Given the description of an element on the screen output the (x, y) to click on. 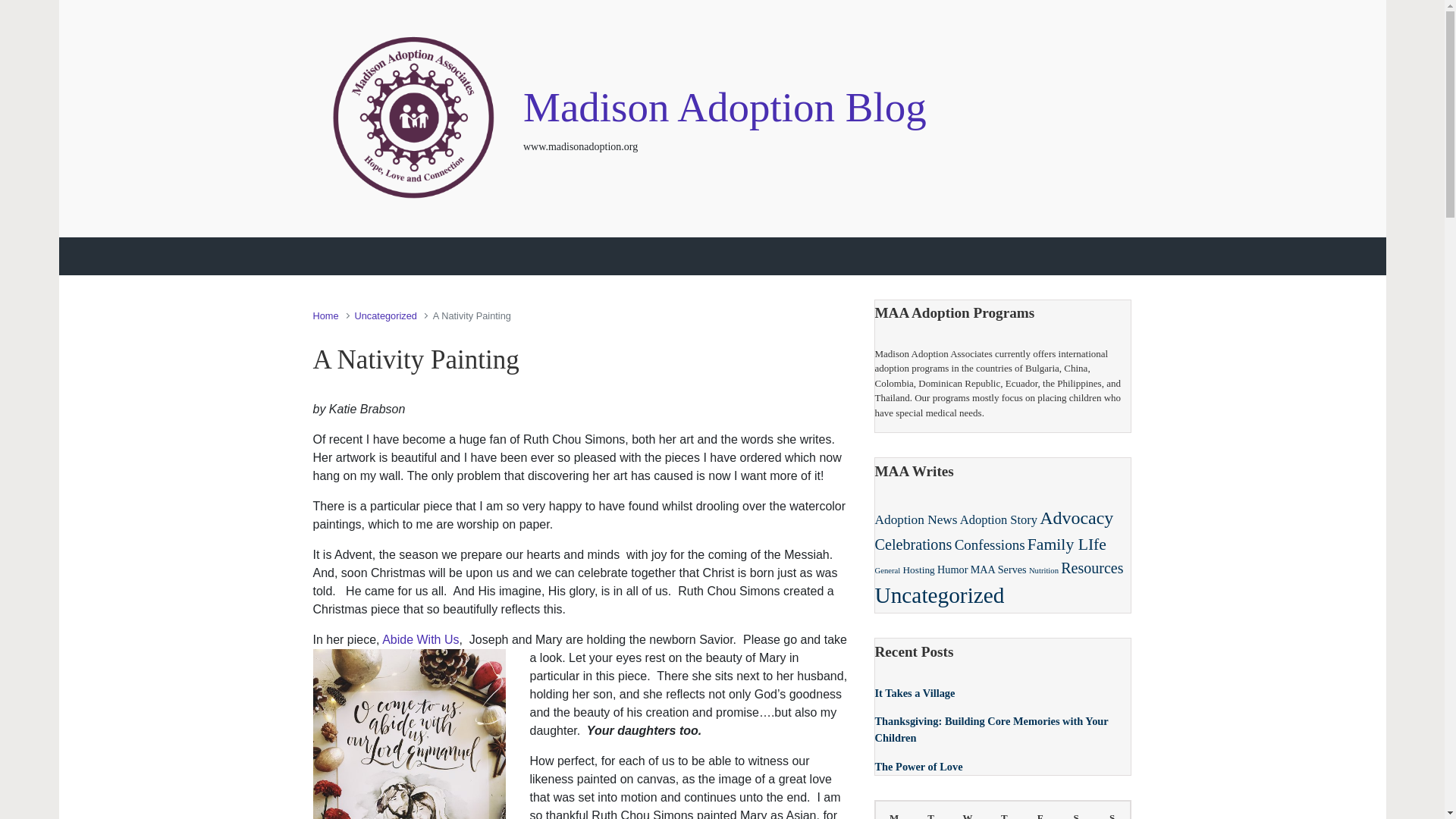
Skip to main content (3, 3)
General (888, 570)
The Power of Love (918, 766)
Madison Adoption Blog (724, 107)
Uncategorized (384, 315)
Home (325, 315)
Celebrations (913, 544)
Resources (1091, 567)
MAA Serves (998, 569)
Confessions (990, 544)
Uncategorized (939, 595)
Nutrition (1043, 570)
Adoption Story (997, 519)
Humor (952, 569)
Adoption News (916, 519)
